Given the description of an element on the screen output the (x, y) to click on. 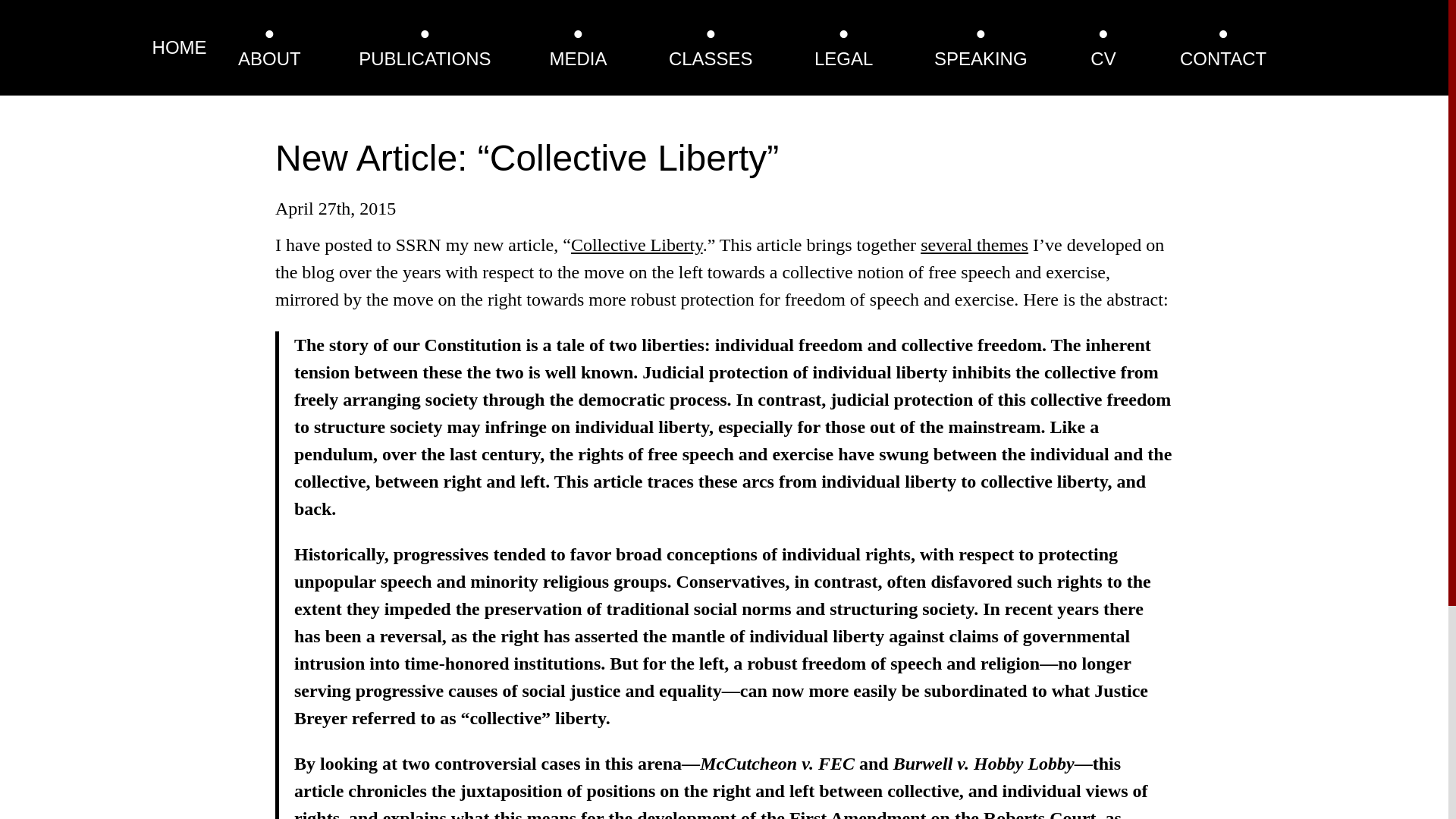
CONTACT (1222, 58)
CV (1102, 58)
LEGAL (842, 58)
ABOUT (269, 58)
HOME (179, 47)
SPEAKING (980, 58)
PUBLICATIONS (424, 58)
Collective Liberty (636, 244)
CLASSES (710, 58)
several themes (973, 244)
